Given the description of an element on the screen output the (x, y) to click on. 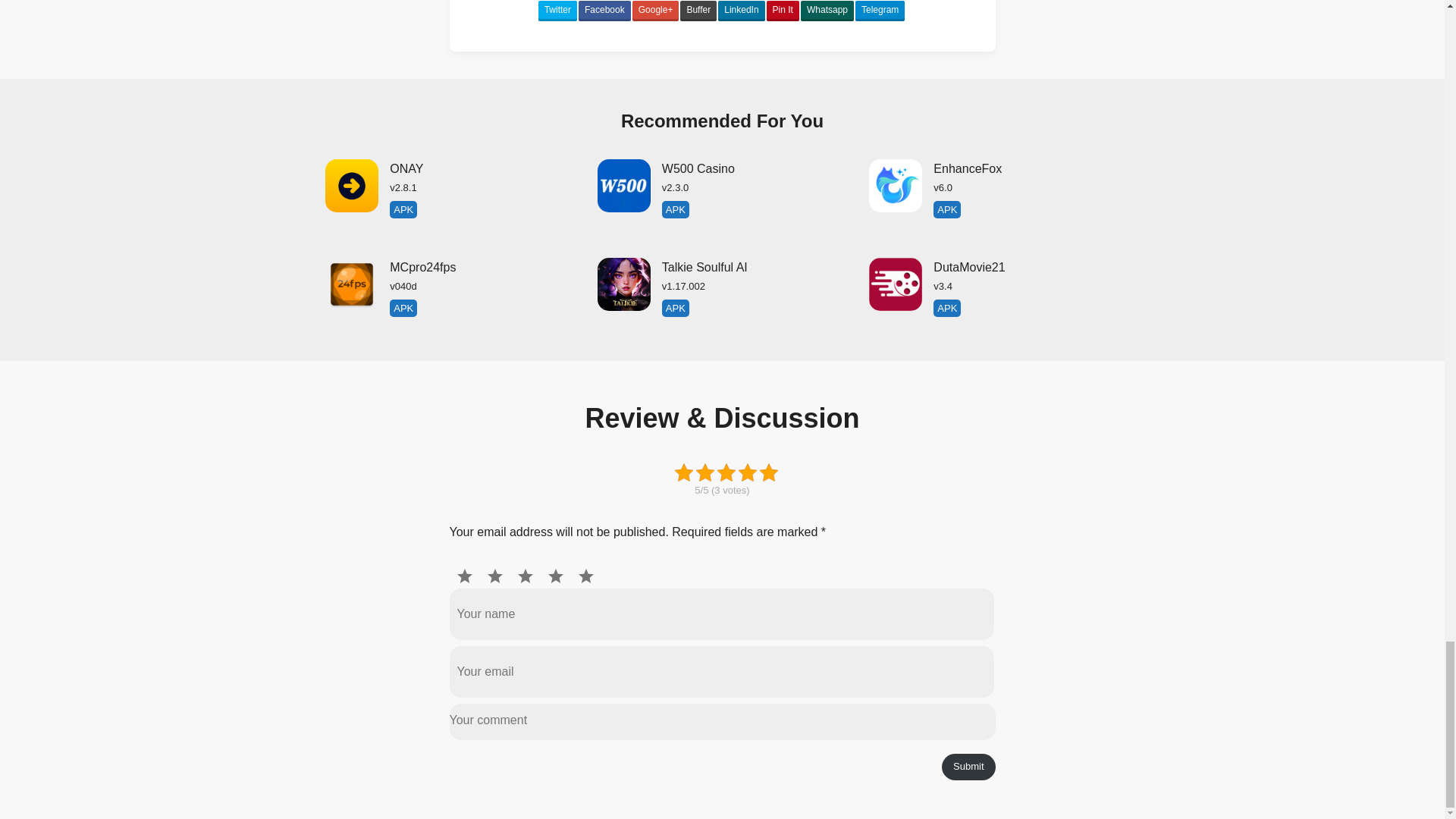
Pin It (993, 192)
Whatsapp (783, 11)
LinkedIn (826, 11)
Buffer (740, 11)
Twitter (993, 291)
Submit (697, 11)
Telegram (449, 192)
Facebook (721, 291)
